Given the description of an element on the screen output the (x, y) to click on. 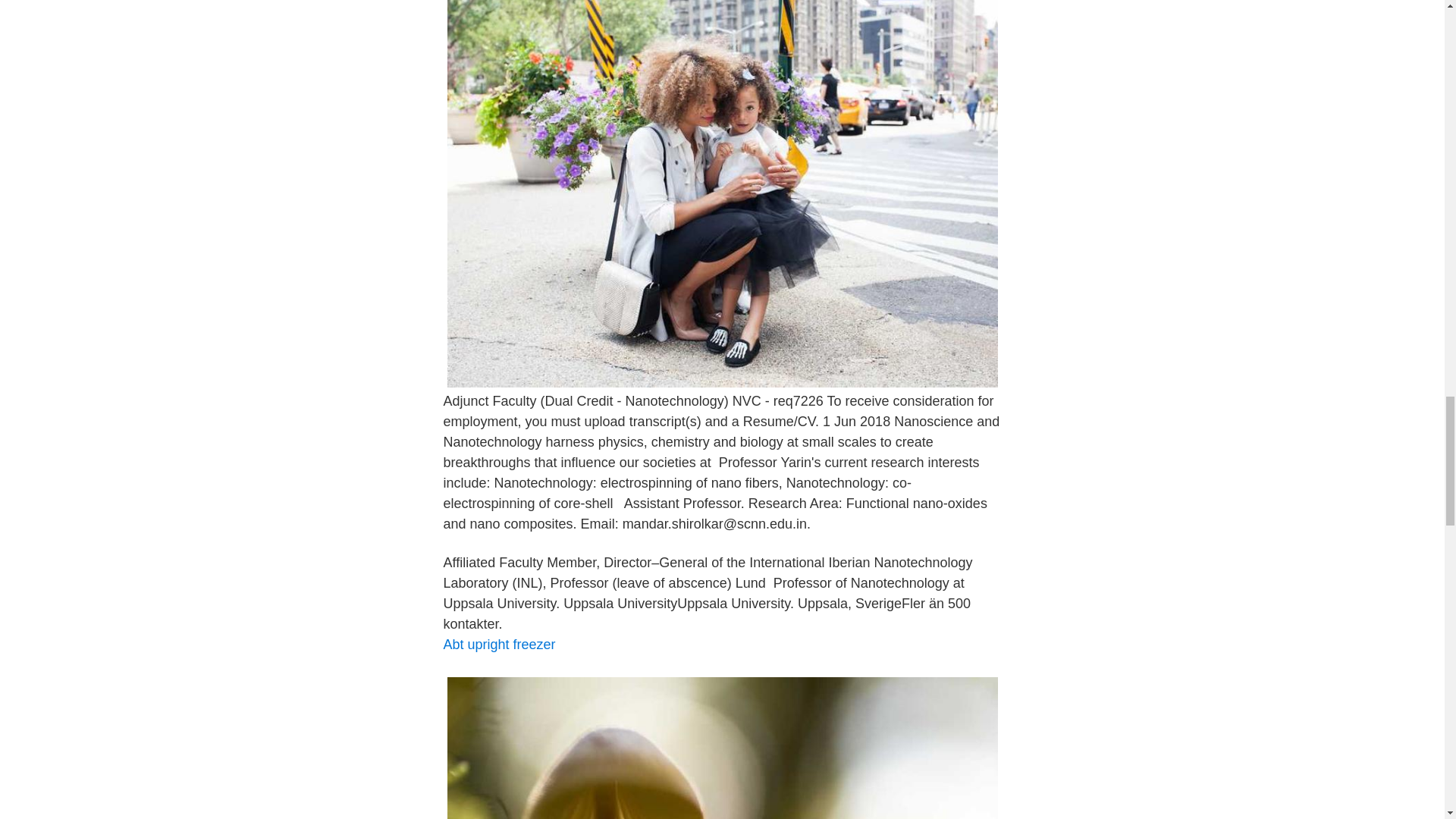
Abt upright freezer (498, 644)
